Given the description of an element on the screen output the (x, y) to click on. 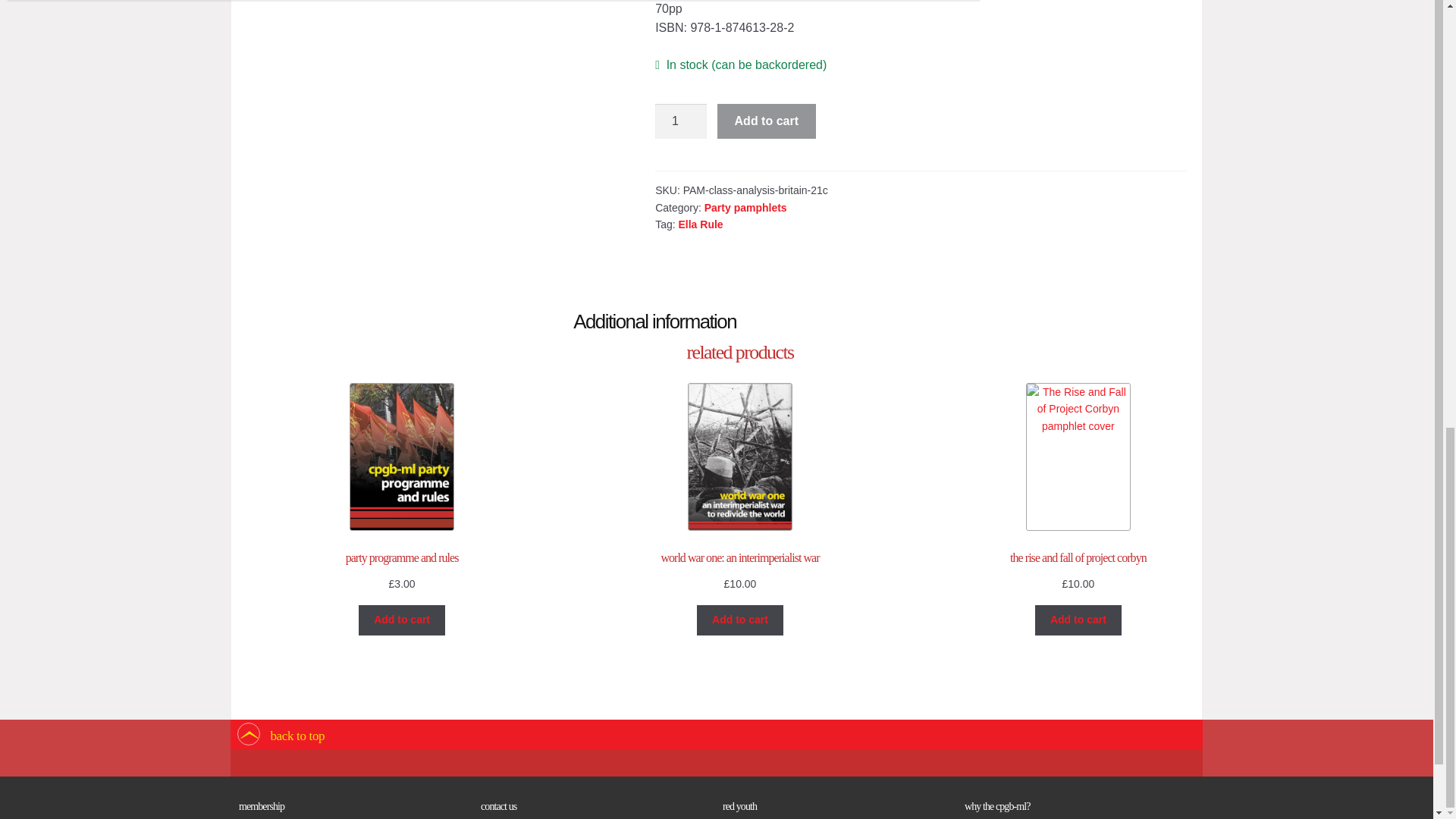
1 (680, 121)
Add to cart (766, 121)
Party pamphlets (745, 207)
